Given the description of an element on the screen output the (x, y) to click on. 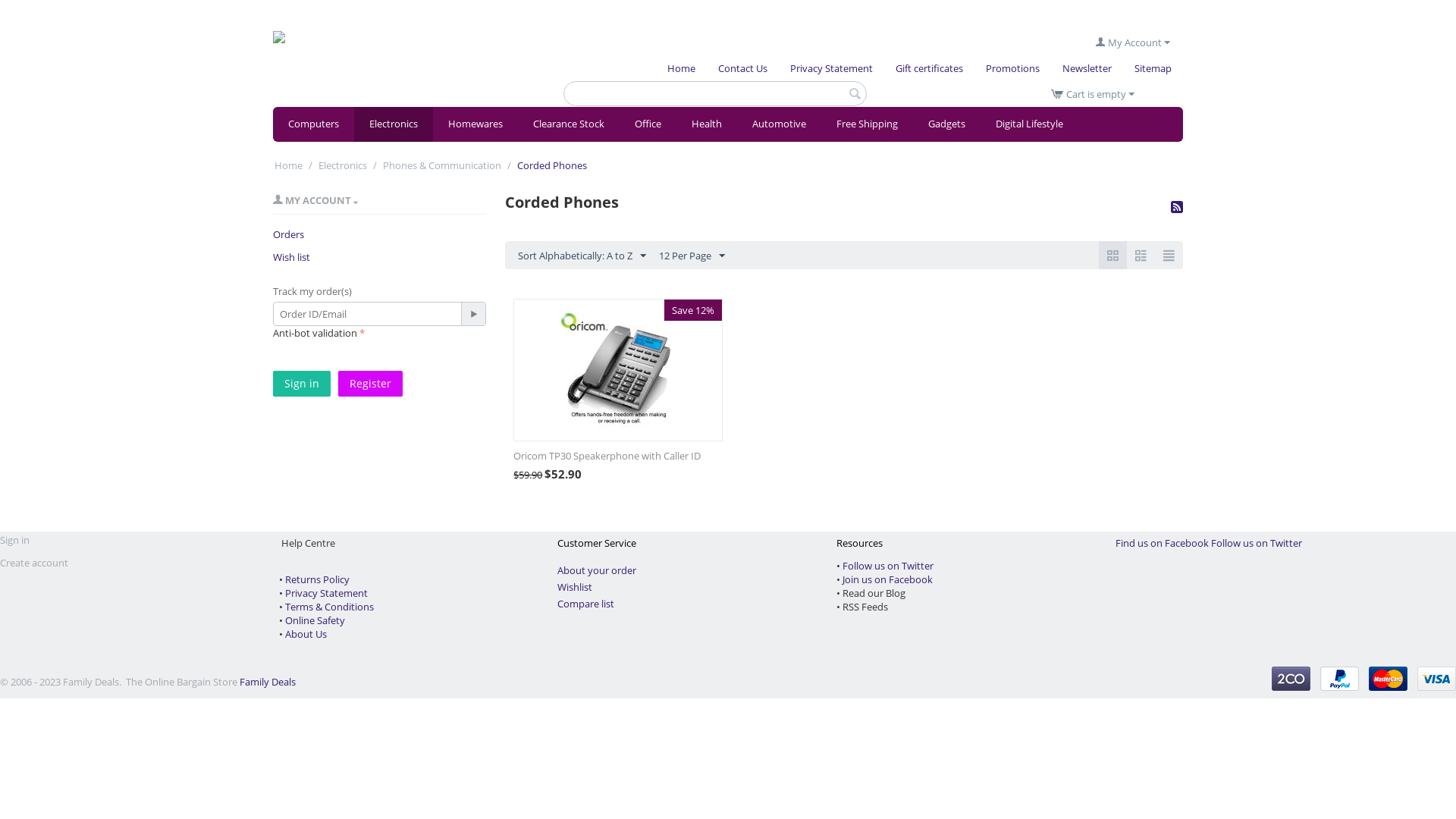
Returns Policy Element type: text (317, 579)
Find us on Facebook Element type: text (1161, 542)
Sign in Element type: text (14, 539)
Gift certificates Element type: text (929, 68)
Sitemap Element type: text (1153, 68)
About your order Element type: text (596, 570)
Wishlist Element type: text (574, 586)
Register Element type: text (370, 383)
Computers Element type: text (313, 123)
Digital Lifestyle Element type: text (1029, 123)
Terms & Conditions Element type: text (329, 606)
Cart is empty Element type: text (1092, 93)
Compare list Element type: text (585, 603)
12 Per Page Element type: text (691, 255)
Search products Element type: hover (714, 93)
Homewares Element type: text (475, 123)
Join us on Facebook Element type: text (887, 579)
Wish list Element type: text (291, 256)
Home Element type: text (288, 164)
Automotive Element type: text (779, 123)
Phones & Communication Element type: text (441, 164)
Orders Element type: text (288, 234)
Search Element type: hover (854, 94)
Promotions Element type: text (1012, 68)
 My Account Element type: text (1132, 42)
Create account Element type: text (34, 562)
Clearance Stock Element type: text (568, 123)
Office Element type: text (647, 123)
Online Safety Element type: text (315, 620)
Gadgets Element type: text (946, 123)
FamilyDeals.com.au Element type: hover (375, 52)
Privacy Statement Element type: text (326, 592)
 MY ACCOUNT Element type: text (315, 200)
Sort Alphabetically: A to Z Element type: text (581, 255)
Contact Us Element type: text (742, 68)
About Us Element type: text (305, 633)
Electronics Element type: text (393, 123)
Go Element type: hover (473, 313)
Newsletter Element type: text (1087, 68)
Offers hands-free freedom when making or receiving a call. Element type: hover (617, 369)
FamilyDeals.com.au Element type: hover (375, 53)
Sign in Element type: text (301, 383)
Electronics Element type: text (342, 164)
Follow us on Twitter Element type: text (1256, 542)
Family Deals Element type: text (267, 681)
Home Element type: text (680, 68)
Privacy Statement Element type: text (831, 68)
Free Shipping Element type: text (867, 123)
Follow us on Twitter Element type: text (887, 565)
Health Element type: text (706, 123)
Oricom TP30 Speakerphone with Caller ID Element type: text (617, 455)
